Given the description of an element on the screen output the (x, y) to click on. 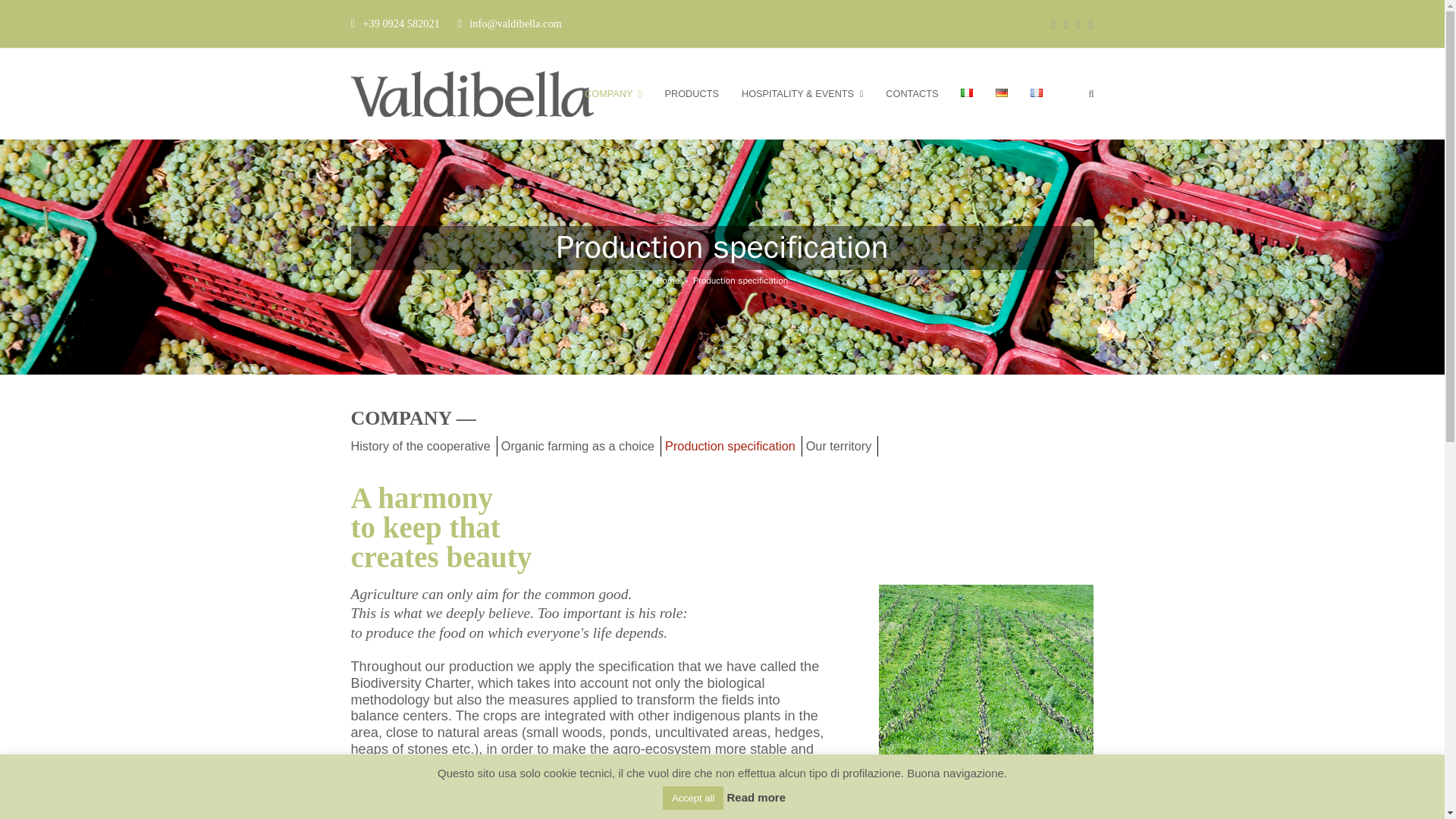
Organic farming as a choice (580, 445)
Home (667, 280)
PRODUCTS (691, 94)
COMPANY (612, 94)
Our territory (842, 445)
History of the cooperative (423, 445)
Production specification (733, 445)
CONTACTS (912, 94)
